Given the description of an element on the screen output the (x, y) to click on. 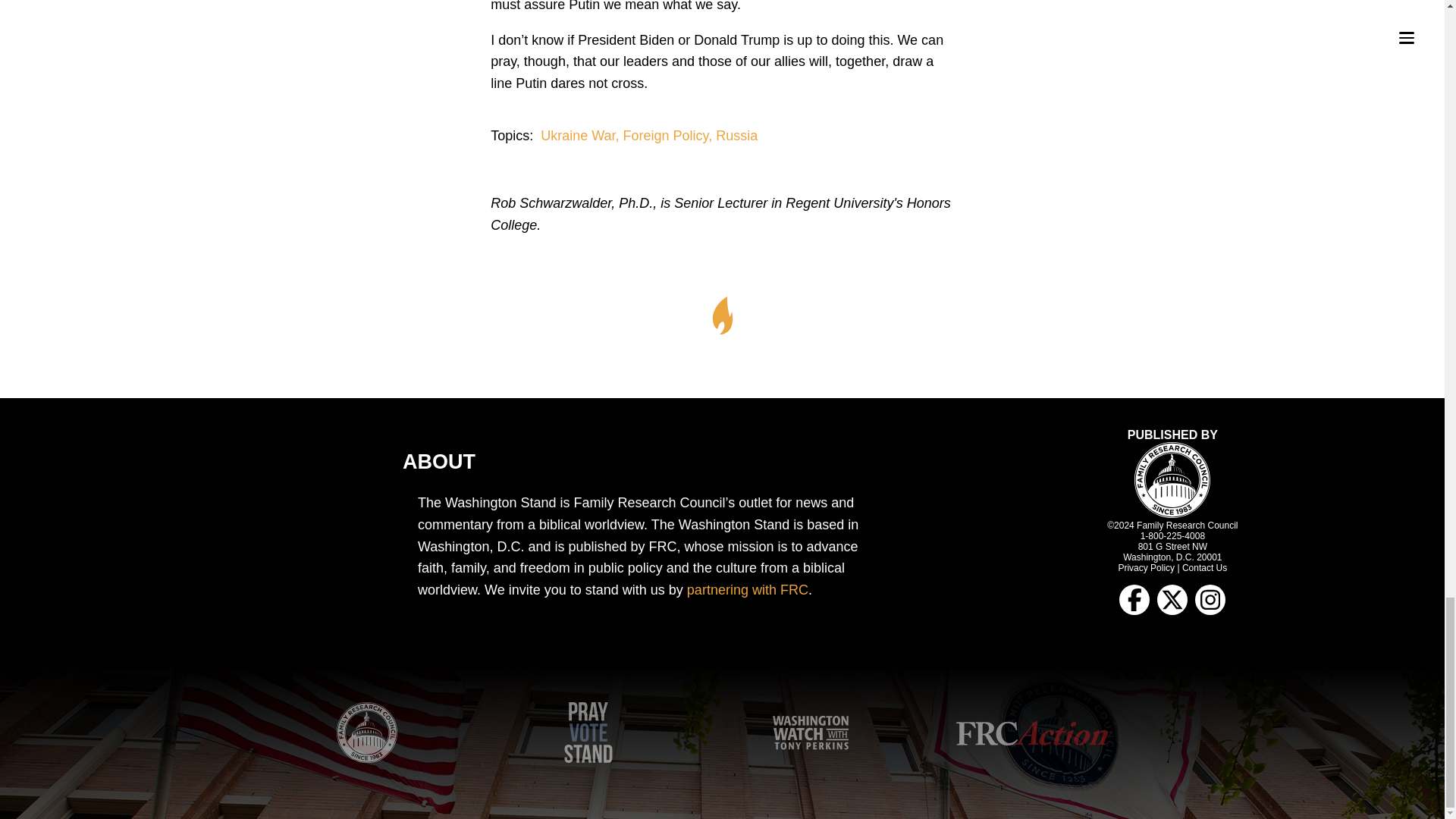
Russia (736, 135)
Contact Us (1204, 567)
partnering with FRC (747, 589)
Privacy Policy (1146, 567)
Foreign Policy, (669, 135)
Ukraine War, (581, 135)
